Given the description of an element on the screen output the (x, y) to click on. 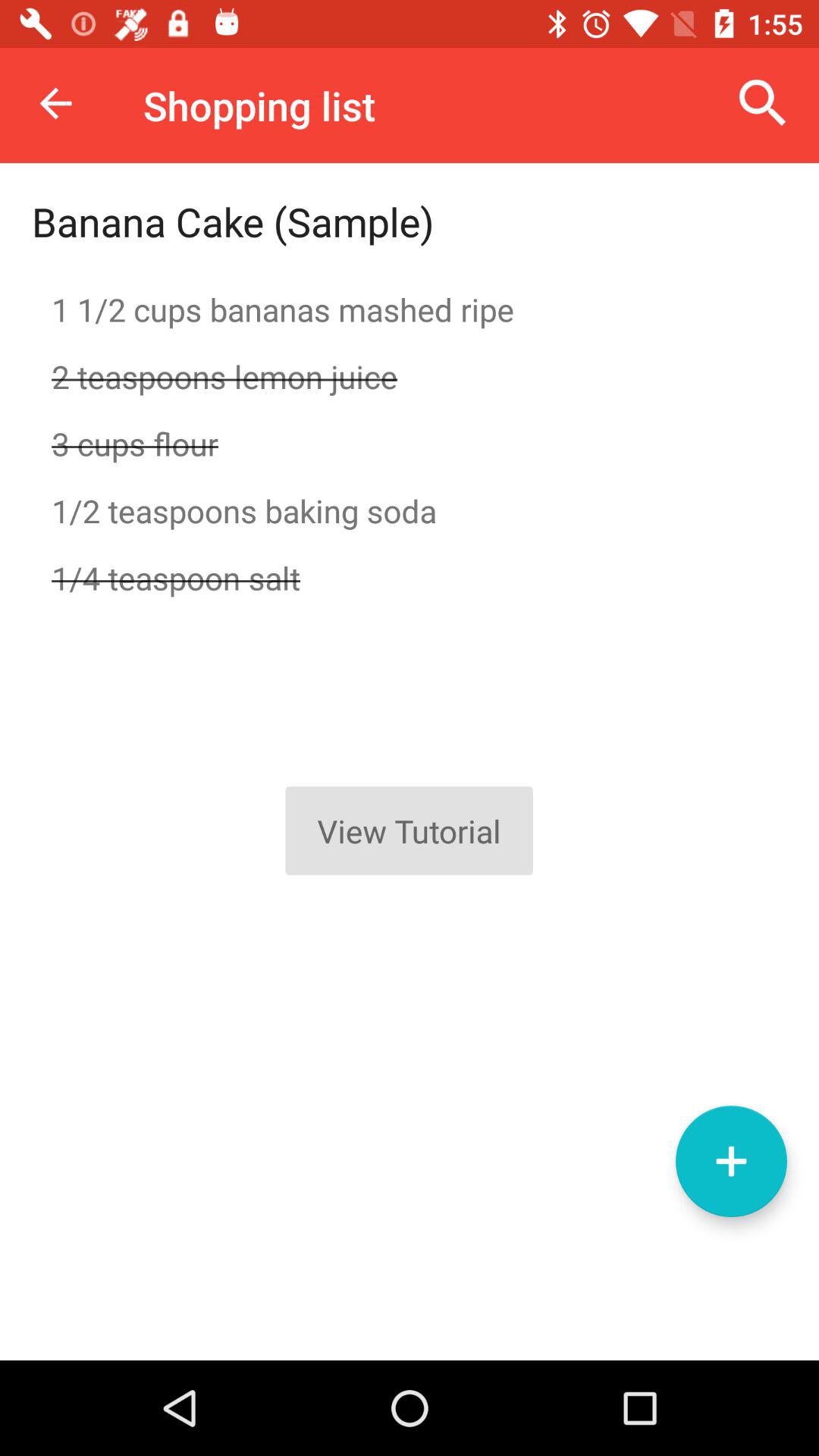
press banana cake (sample) icon (232, 221)
